Given the description of an element on the screen output the (x, y) to click on. 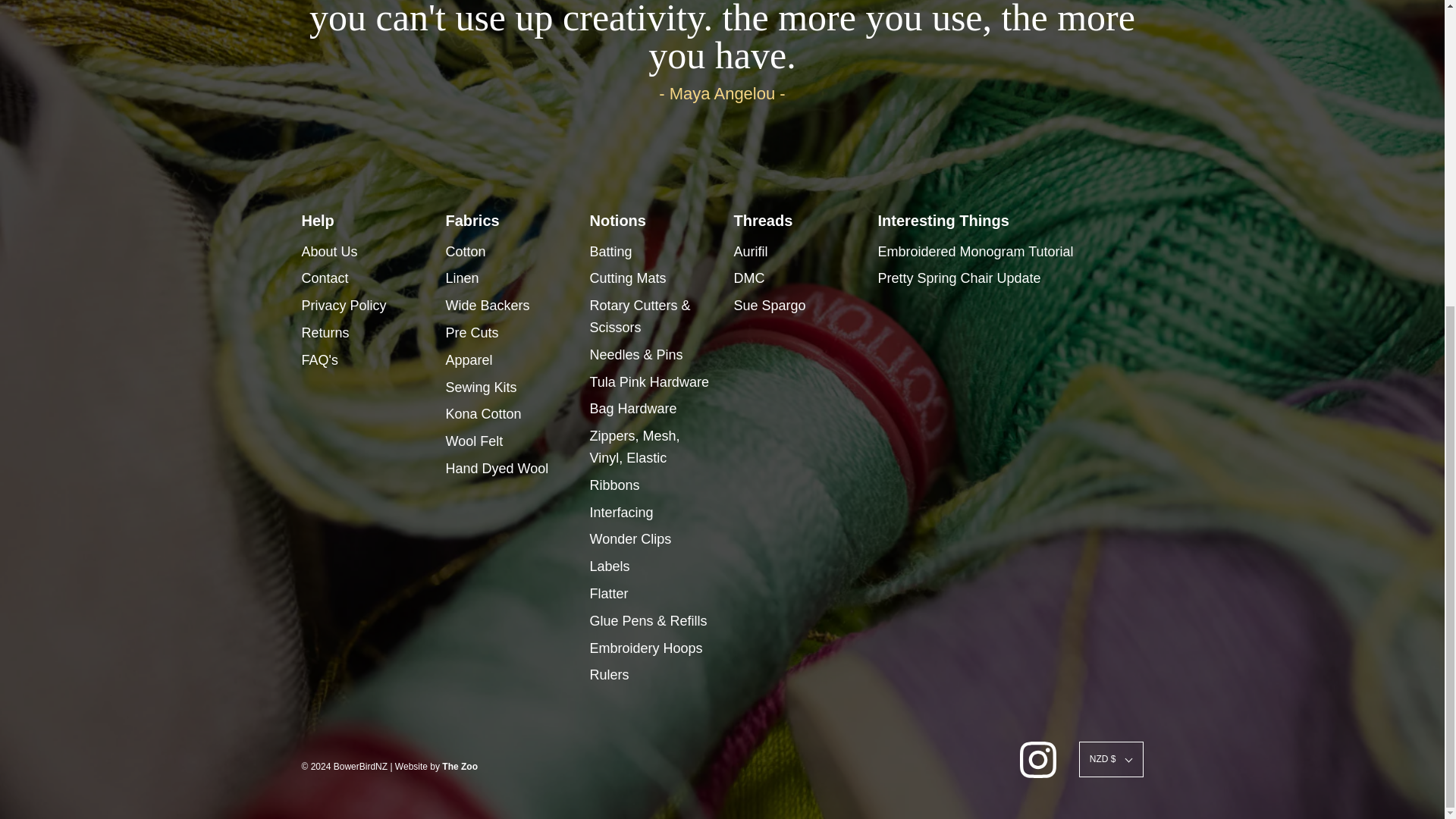
Instagram icon (1038, 760)
